Given the description of an element on the screen output the (x, y) to click on. 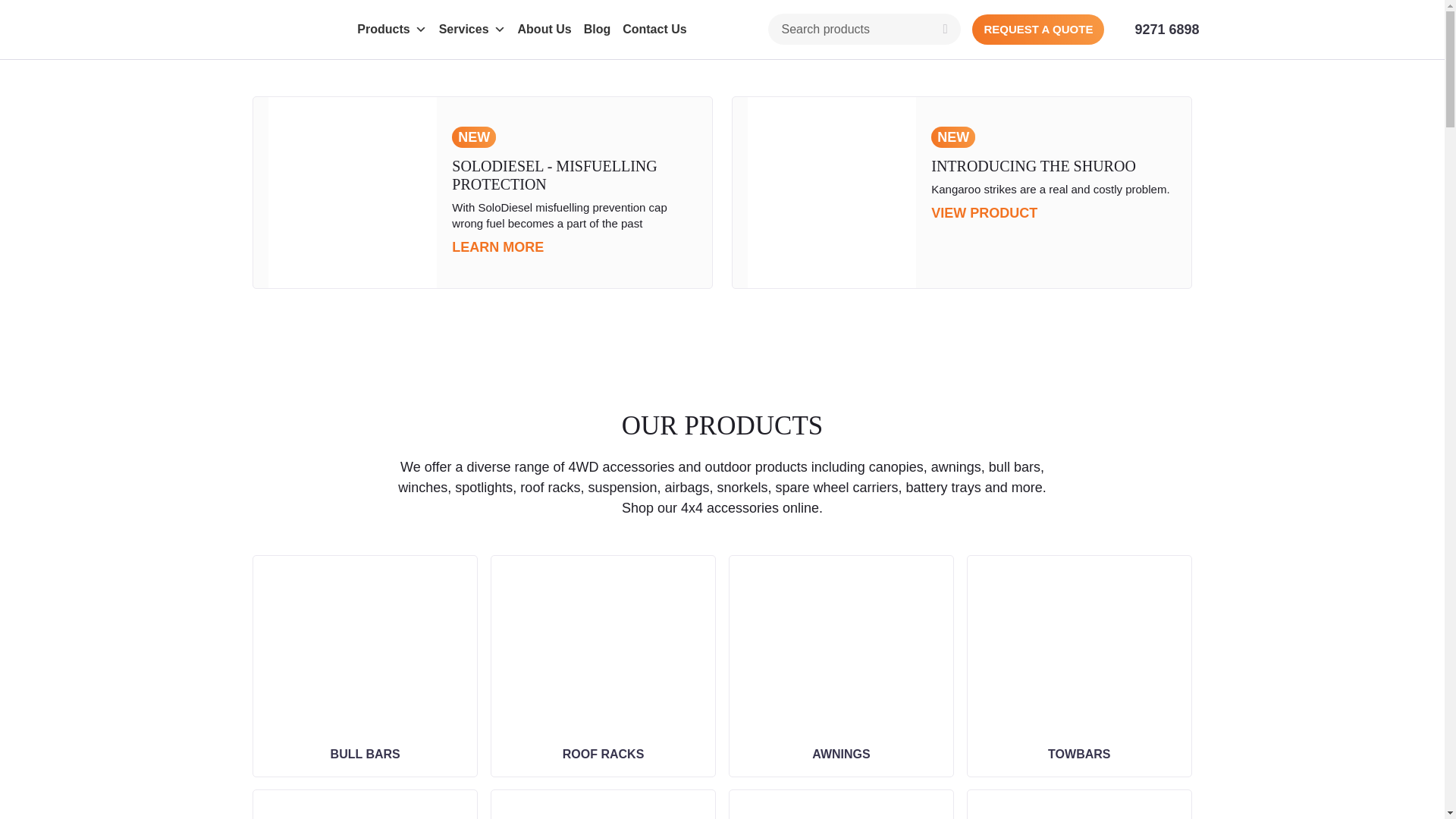
Products (391, 29)
REQUEST A QUOTE (1037, 29)
9271 6898 (1166, 29)
